Given the description of an element on the screen output the (x, y) to click on. 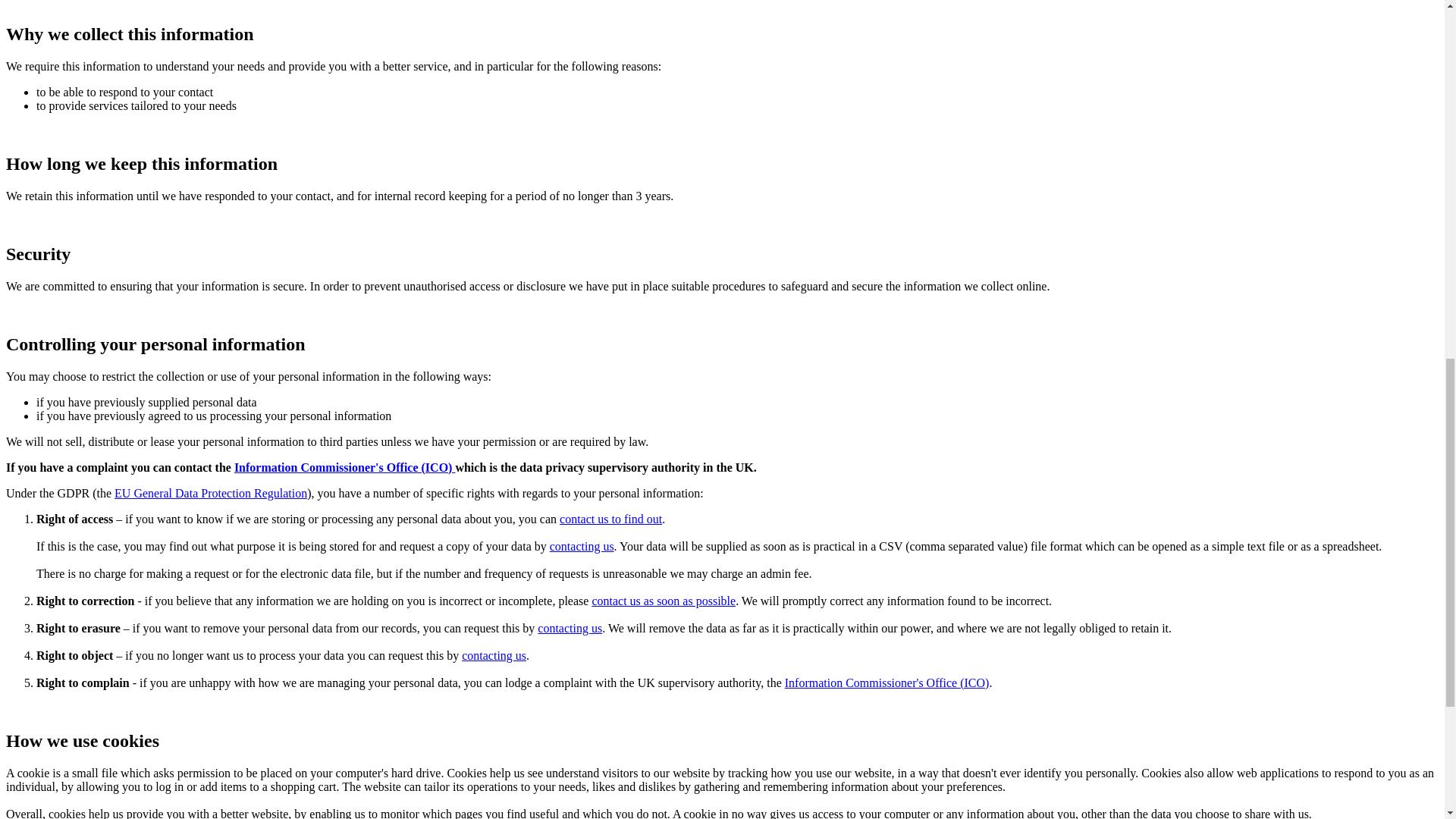
contacting us (569, 627)
contact us as soon as possible (663, 600)
contacting us (493, 655)
contact us to find out (610, 518)
EU General Data Protection Regulation (211, 492)
contacting us (582, 545)
